Given the description of an element on the screen output the (x, y) to click on. 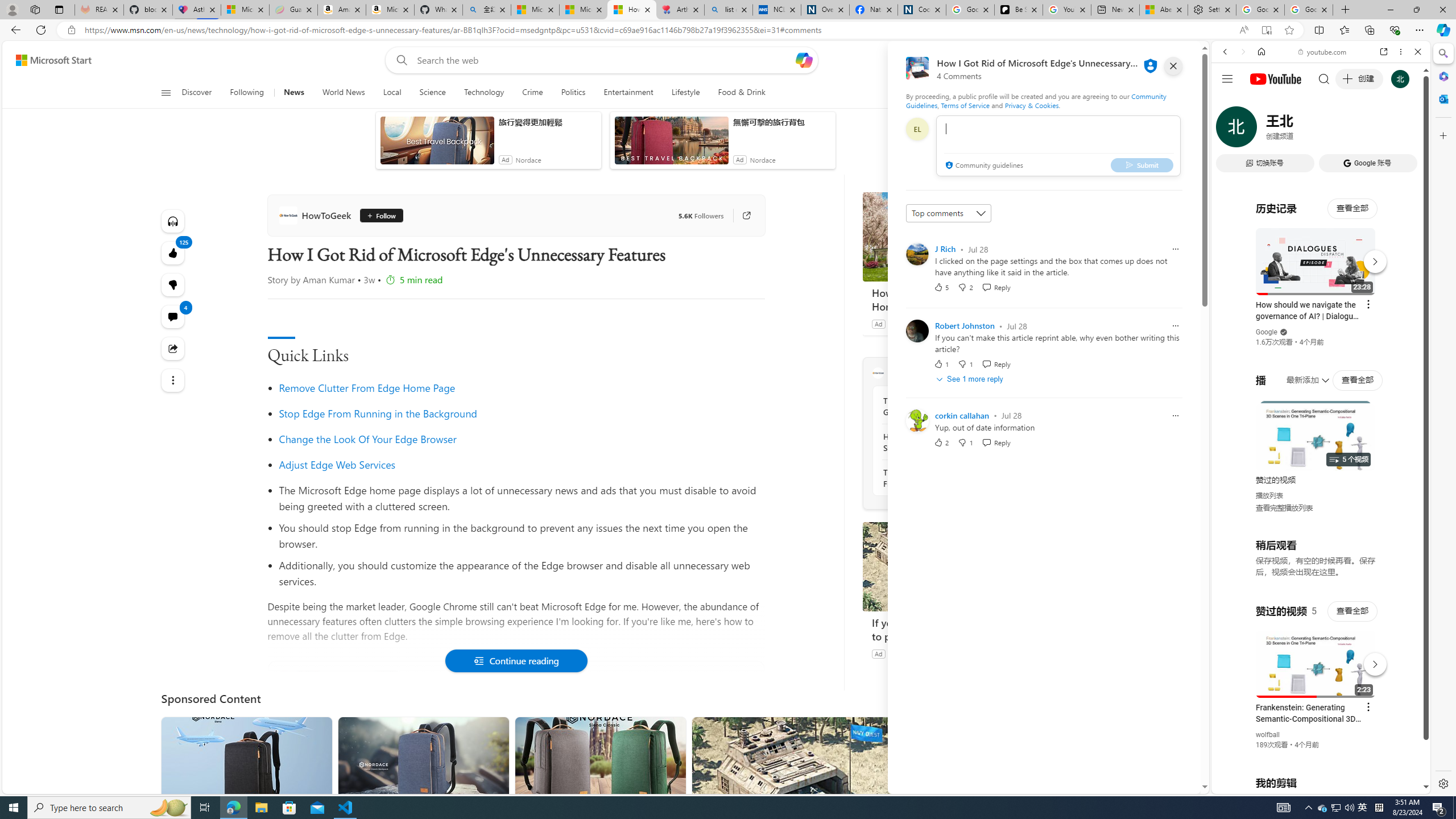
Split screen (1318, 29)
Food & Drink (741, 92)
How To Borrow From Your Home Without Touching Your Mortgage (947, 299)
Privacy & Cookies (1031, 104)
Class: at-item (172, 380)
Stop Edge From Running in the Background (521, 413)
Settings and more (Alt+F) (1419, 29)
Google (1266, 331)
View site information (70, 29)
Listen to this article (172, 220)
Discover (197, 92)
